Given the description of an element on the screen output the (x, y) to click on. 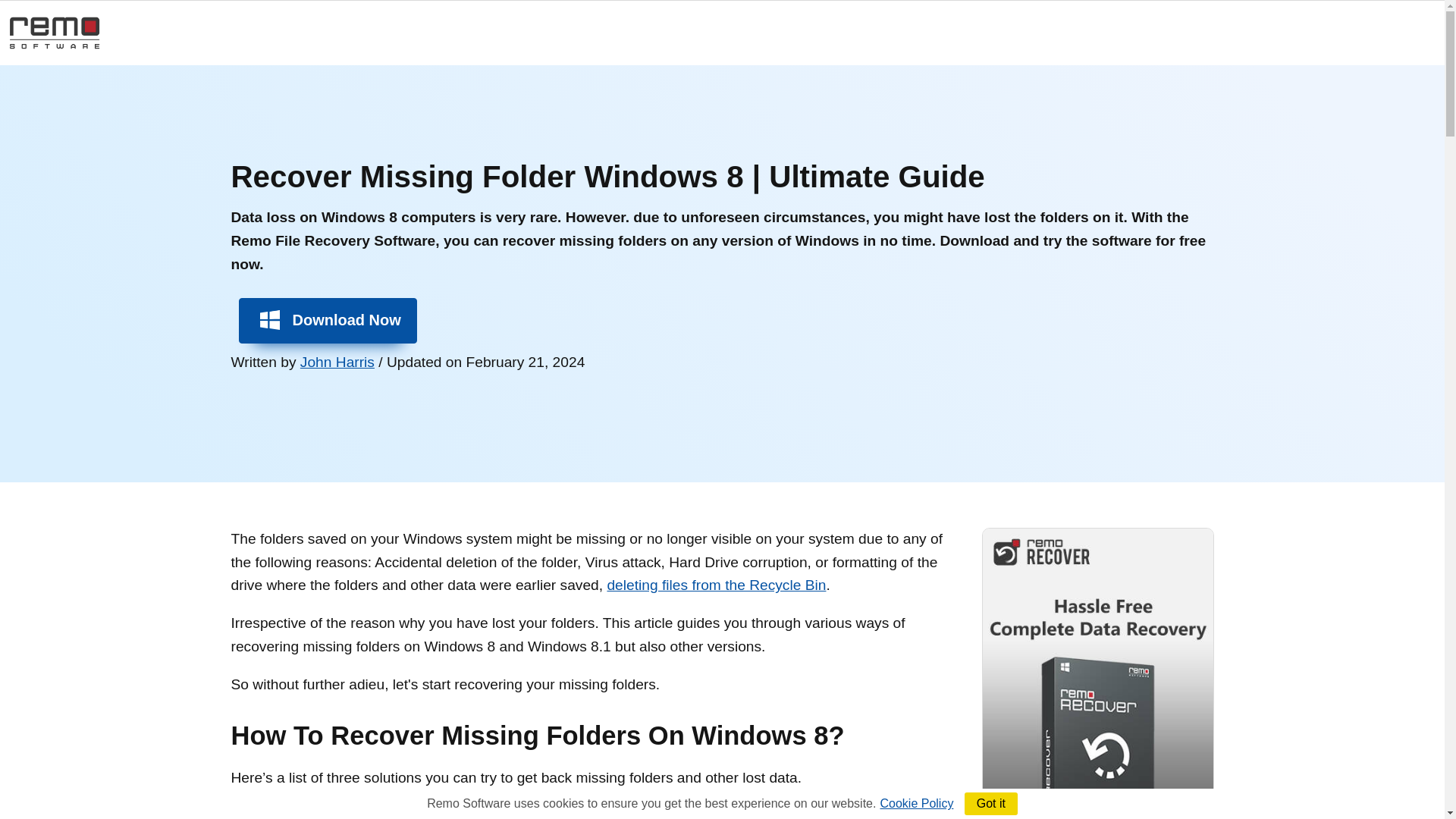
Recover Missing Folders from Windows Recycle Bin (429, 813)
Remo Software (54, 32)
deleting files from the Recycle Bin (716, 584)
Download Now (327, 320)
John Harris (336, 361)
